Given the description of an element on the screen output the (x, y) to click on. 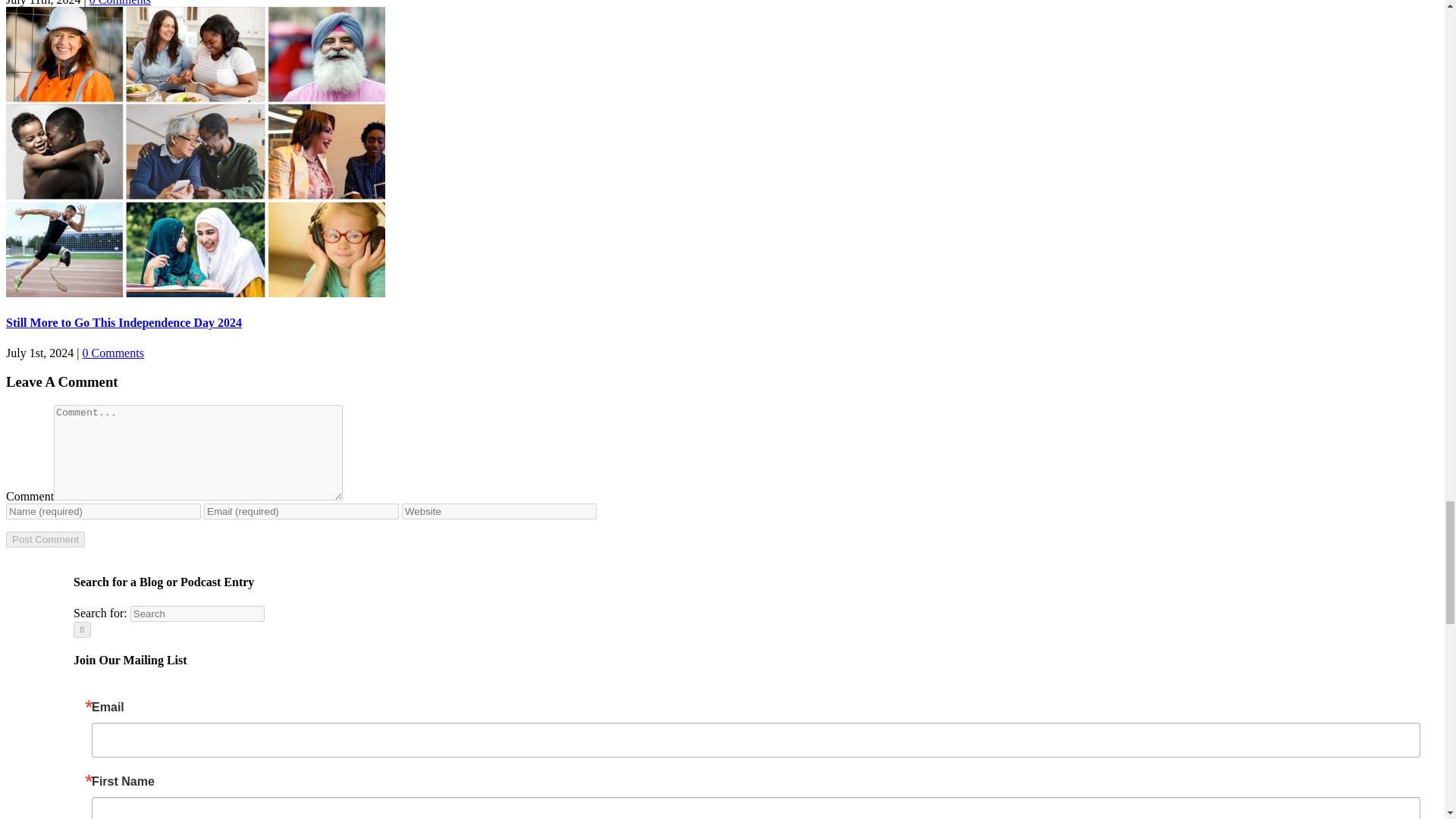
Post Comment (44, 539)
